Given the description of an element on the screen output the (x, y) to click on. 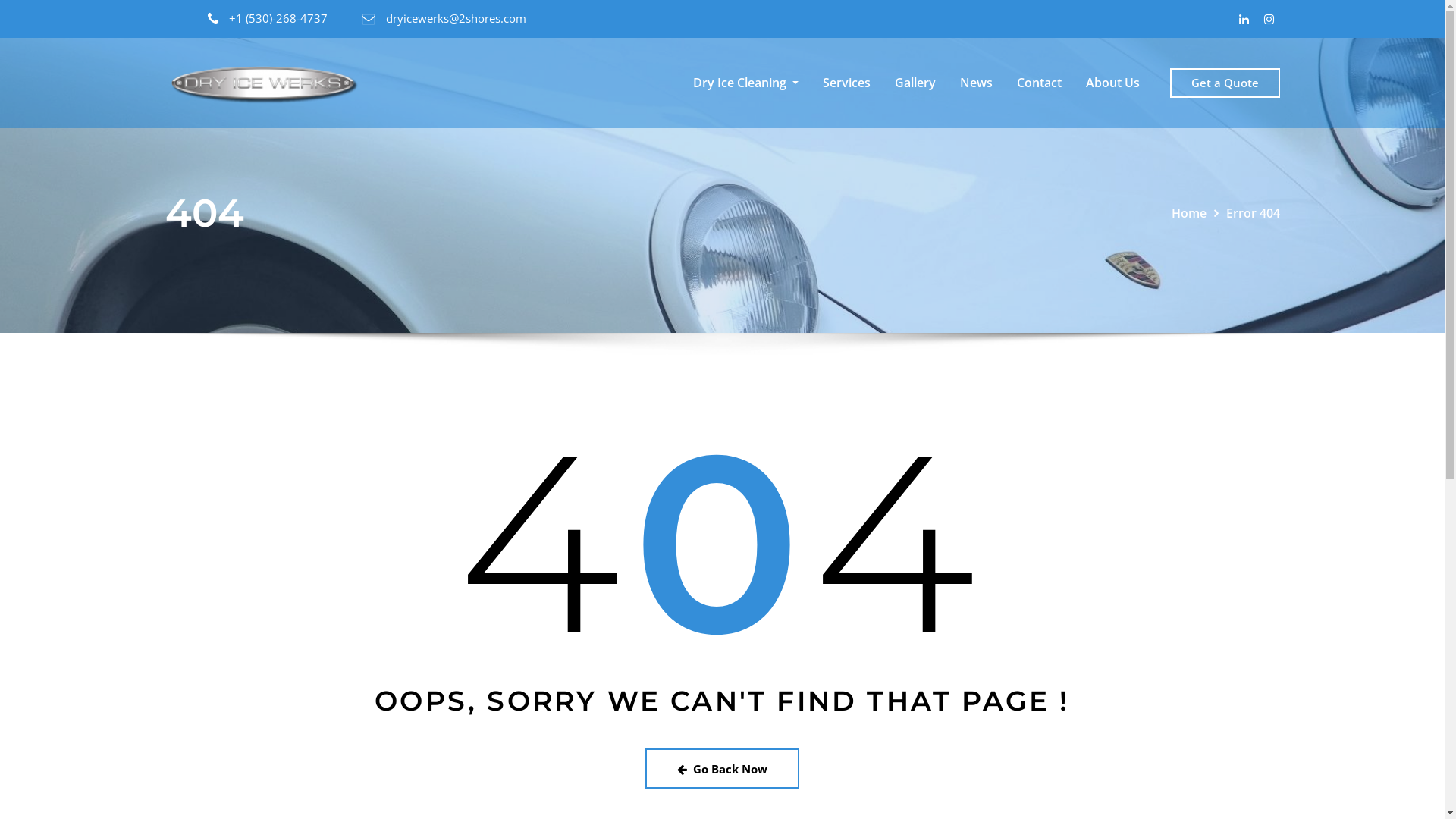
Contact Element type: text (1038, 82)
News Element type: text (975, 82)
Home Element type: text (1187, 212)
Get a Quote Element type: text (1224, 82)
Error 404 Element type: text (1252, 212)
Services Element type: text (846, 82)
About Us Element type: text (1112, 82)
Go Back Now Element type: text (722, 768)
+1 (530)-268-4737 Element type: text (278, 17)
Gallery Element type: text (914, 82)
Dry Ice Cleaning Element type: text (745, 82)
dryicewerks@2shores.com Element type: text (455, 17)
